Given the description of an element on the screen output the (x, y) to click on. 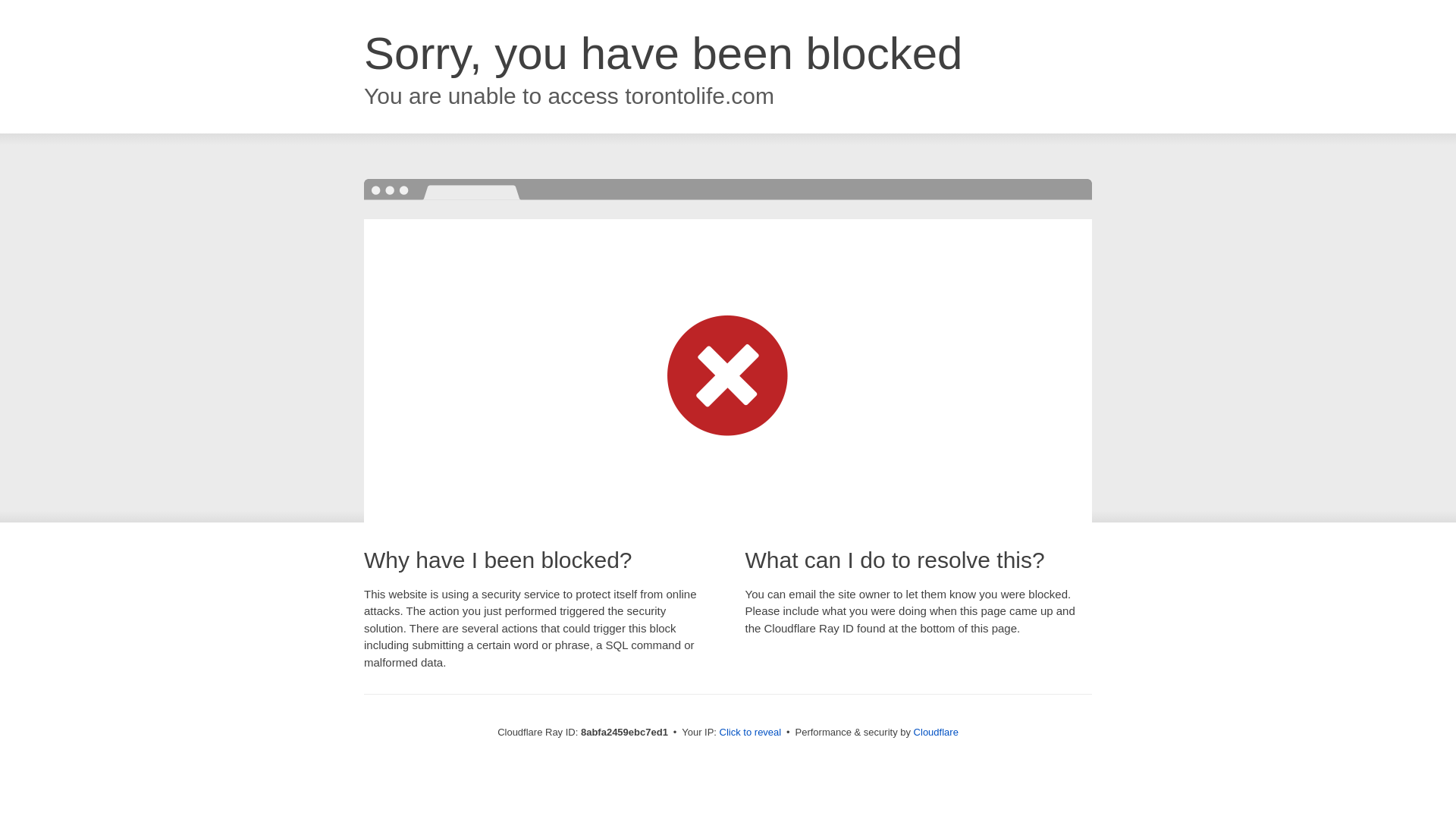
Click to reveal (750, 732)
Cloudflare (936, 731)
